Given the description of an element on the screen output the (x, y) to click on. 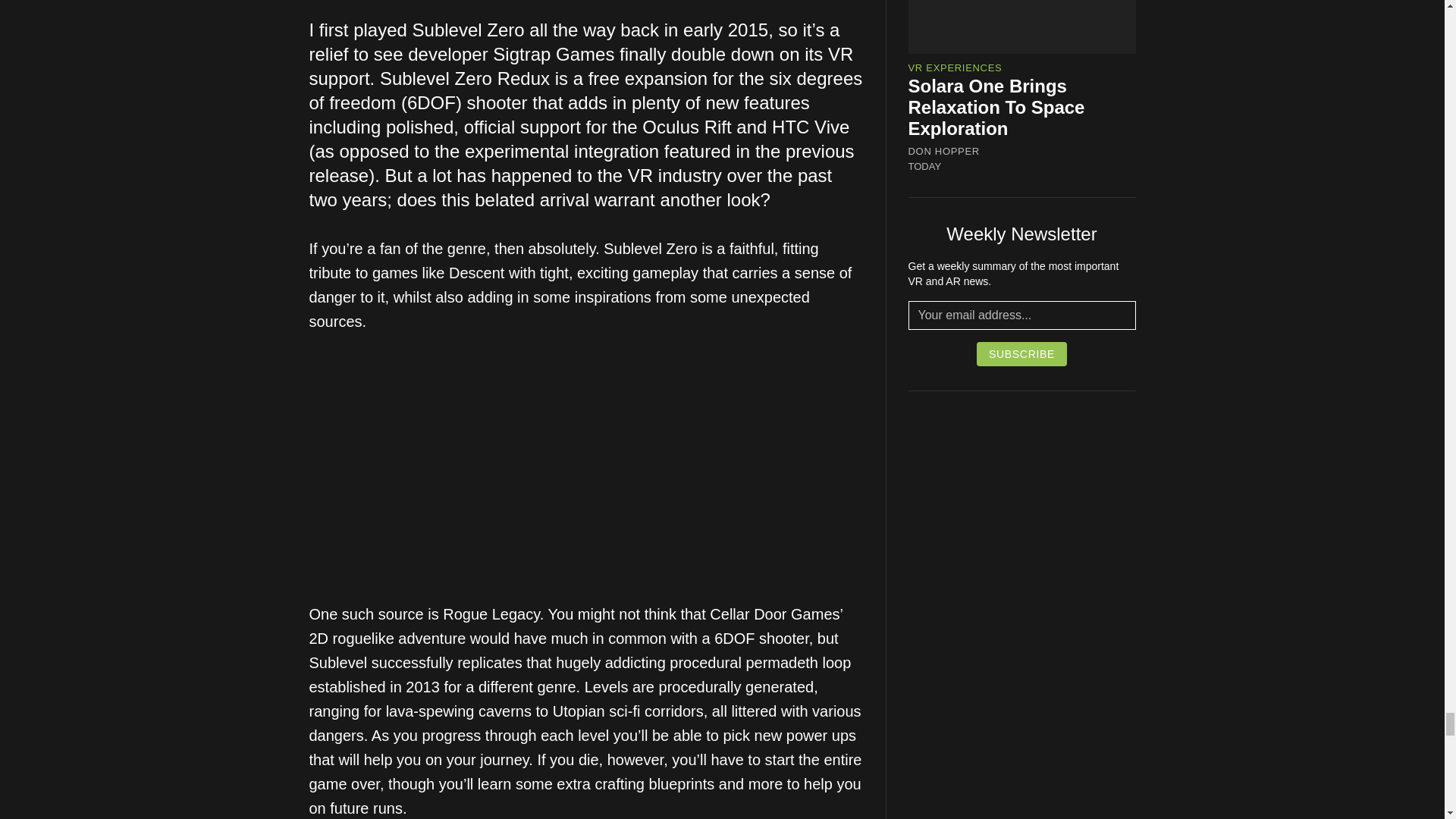
DON HOPPER (943, 151)
Solara One Brings Relaxation To Space Exploration (996, 107)
VR EXPERIENCES (955, 67)
Subscribe (1021, 354)
Subscribe (1021, 354)
